Given the description of an element on the screen output the (x, y) to click on. 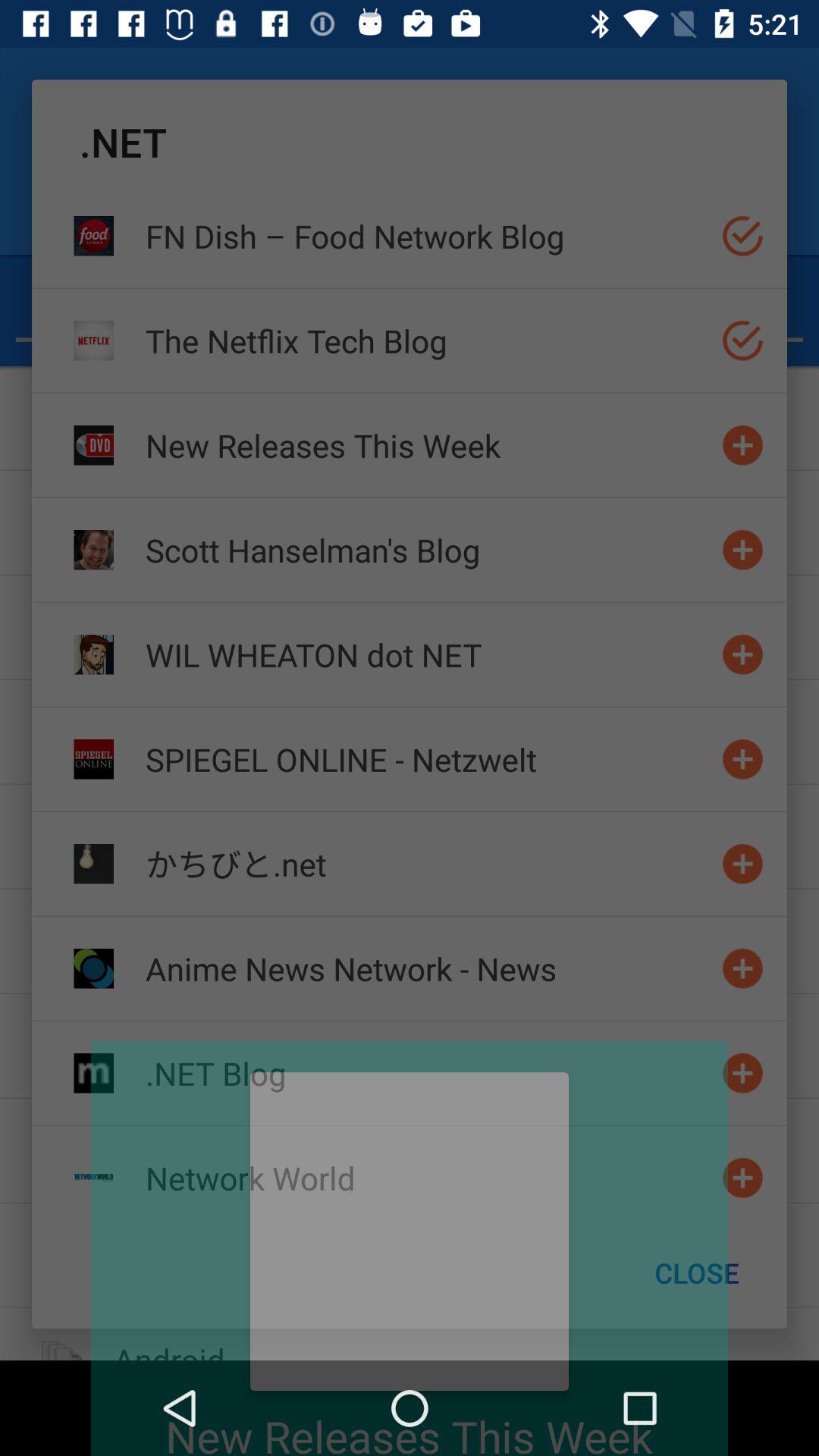
add website to bookmark (742, 1073)
